Given the description of an element on the screen output the (x, y) to click on. 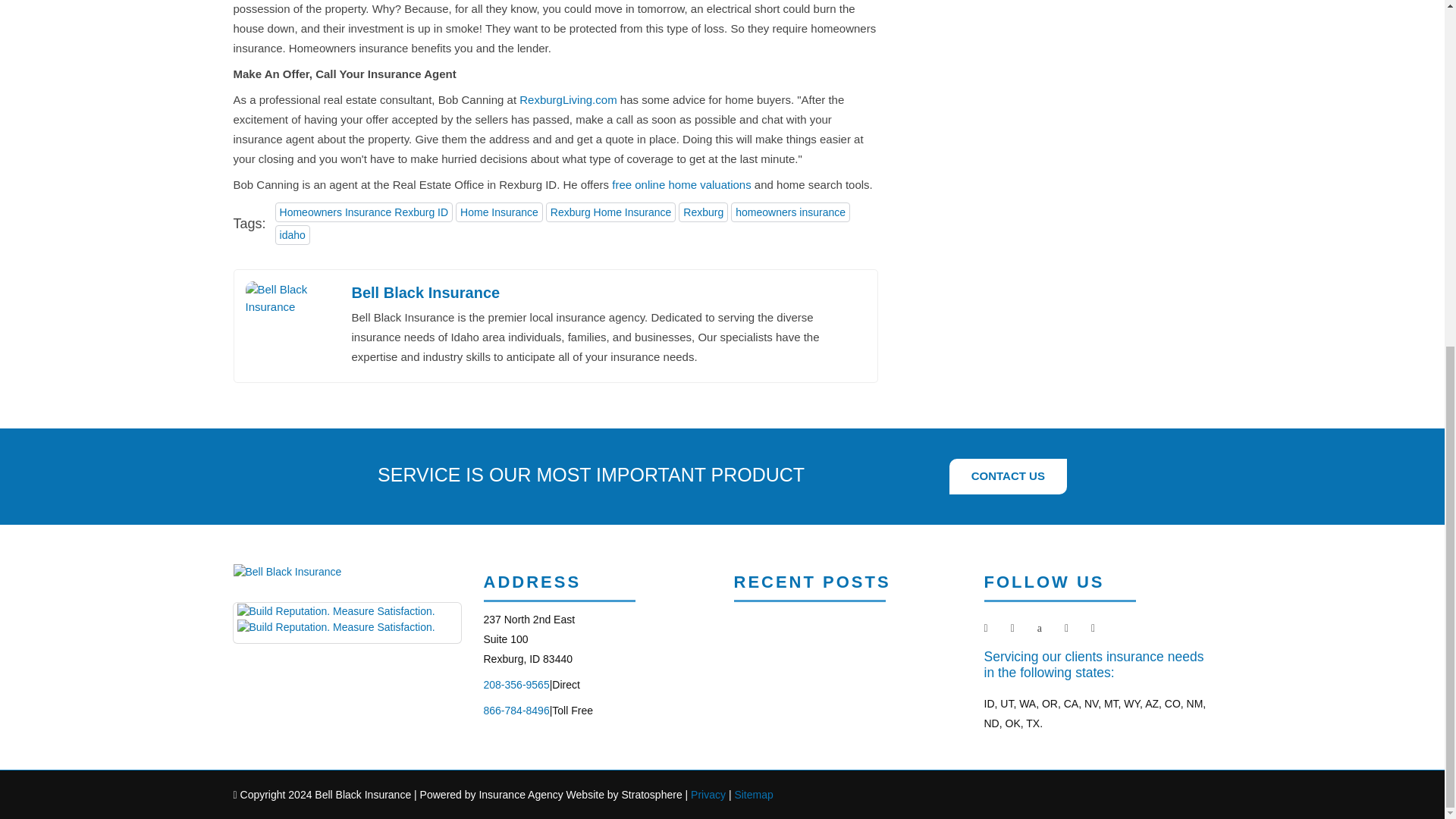
Home Insurance (499, 211)
free online home valuations (681, 184)
CONTACT US (1008, 476)
idaho (292, 234)
Rexburg (703, 211)
Rexburg Home Insurance (611, 211)
See all posts in Home Insurance (499, 211)
Homeowners Insurance Rexburg ID (363, 211)
See all posts in Homeowners Insurance Rexburg ID (363, 211)
RexburgLiving.com (567, 99)
